Given the description of an element on the screen output the (x, y) to click on. 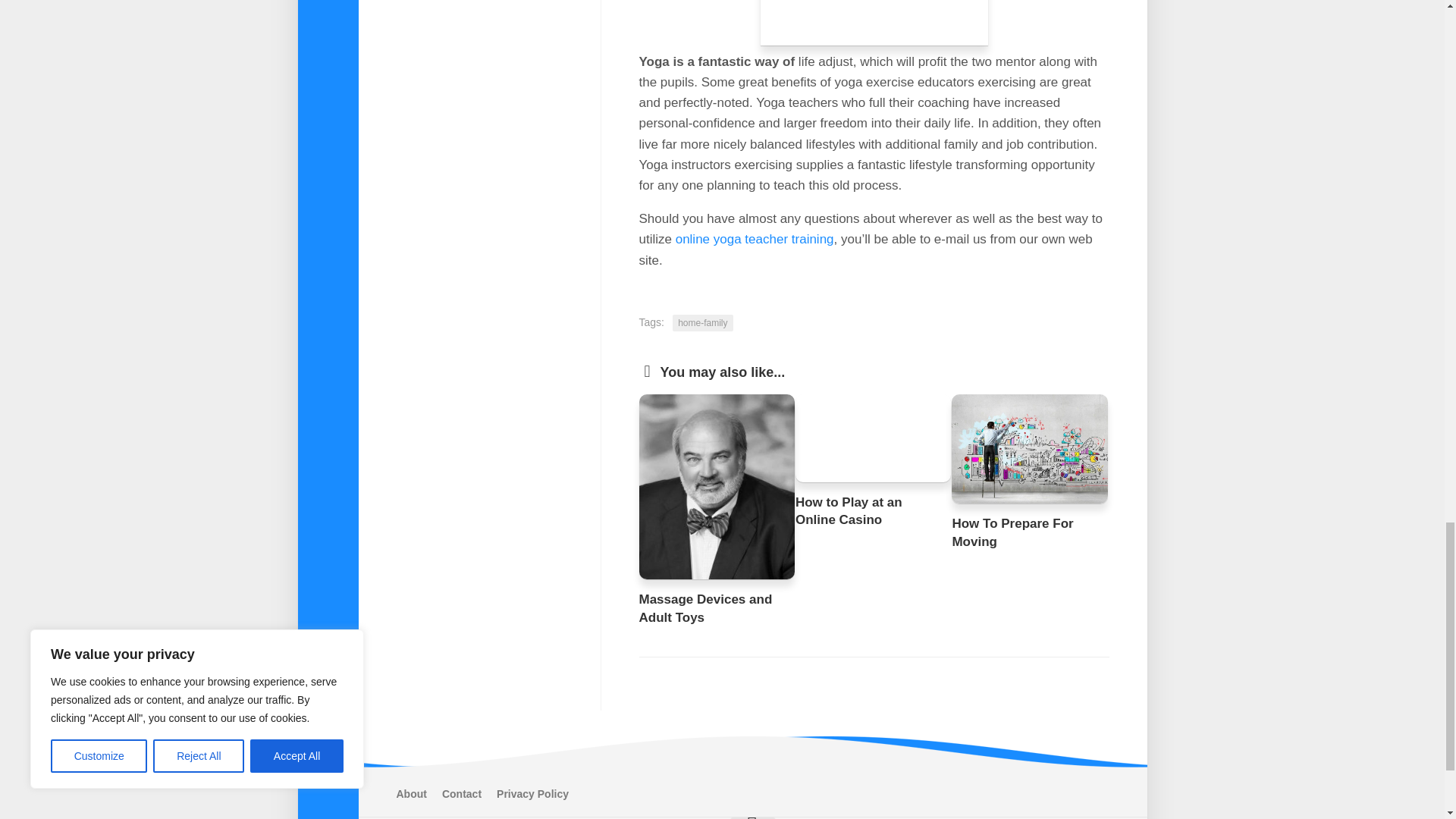
Massage Devices and Adult Toys (705, 608)
How To Prepare For Moving (1012, 532)
home-family (702, 322)
How to Play at an Online Casino (848, 511)
online yoga teacher training (754, 238)
